Given the description of an element on the screen output the (x, y) to click on. 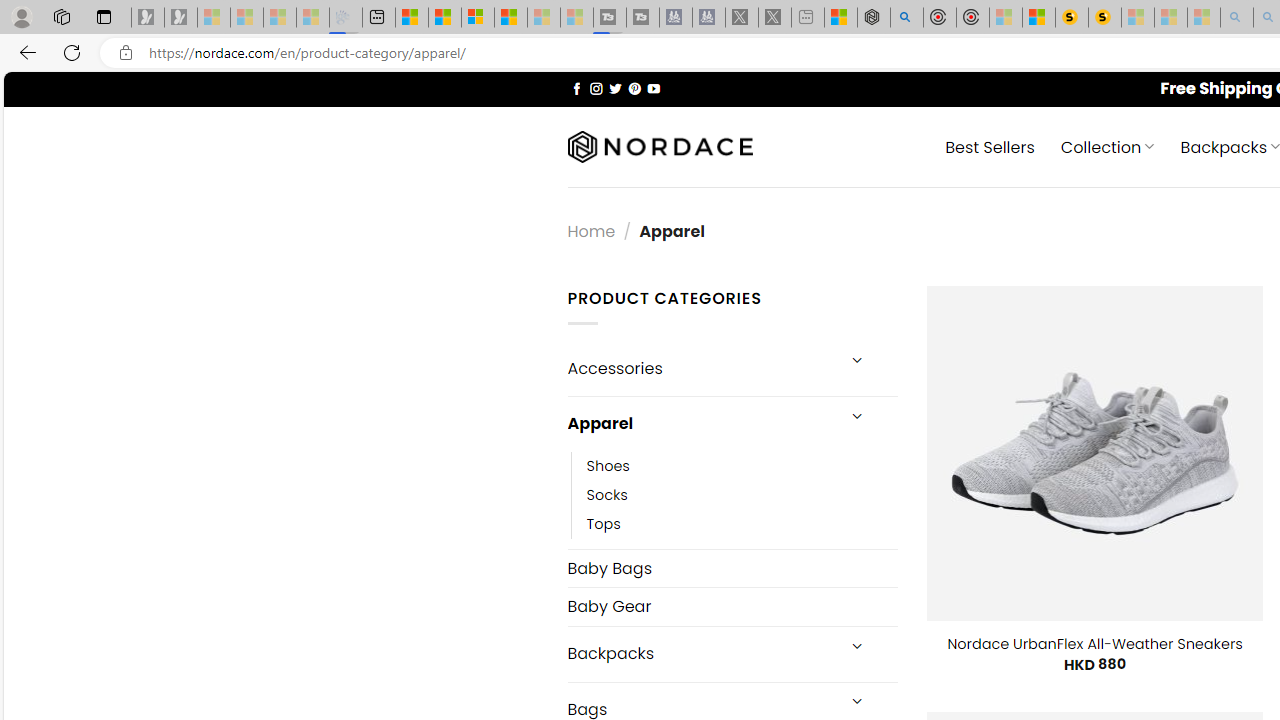
Follow on Twitter (615, 88)
Baby Gear (732, 605)
